Given the description of an element on the screen output the (x, y) to click on. 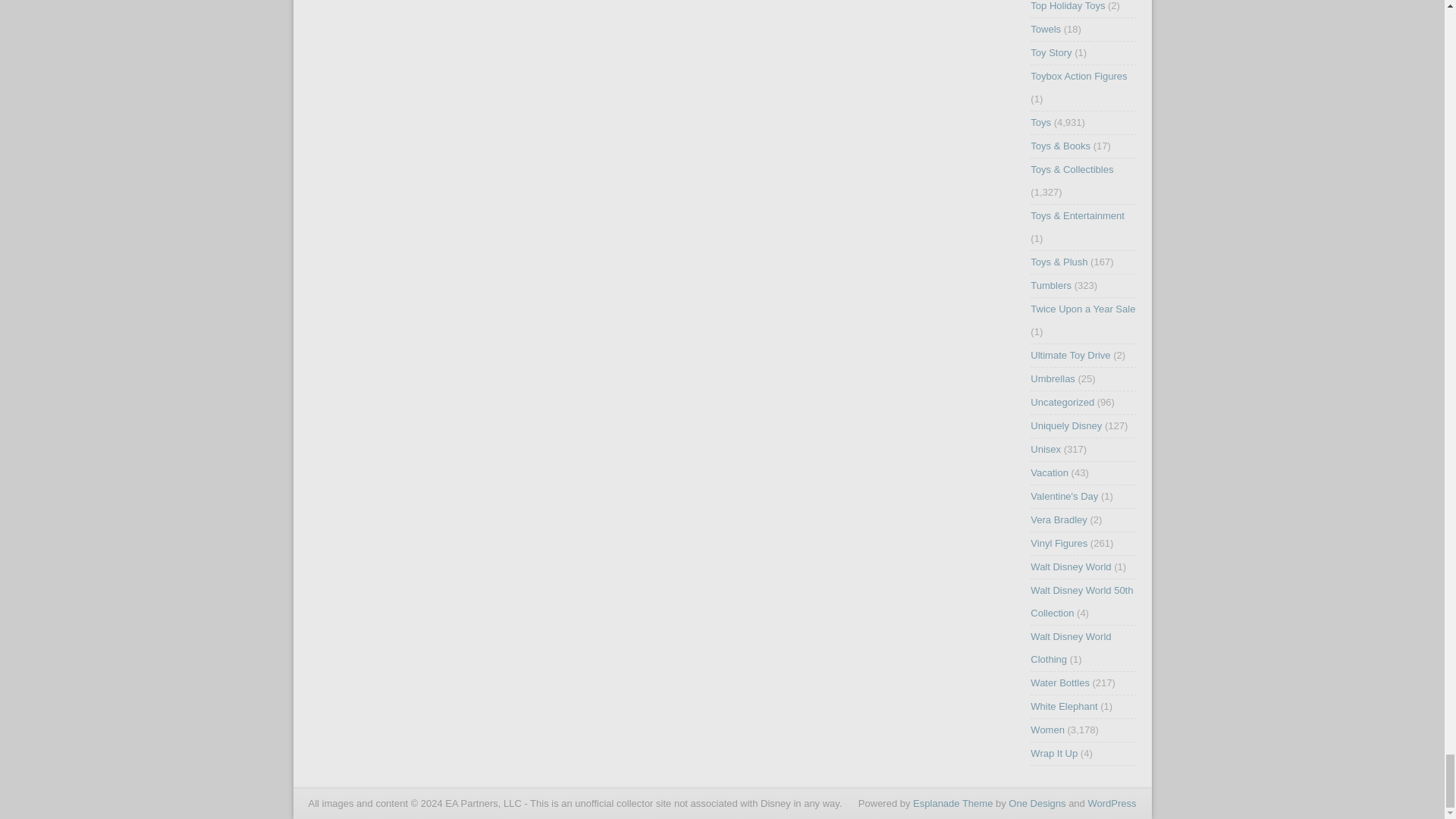
Esplanade Theme (952, 803)
WordPress (1111, 803)
One Designs (1037, 803)
